Given the description of an element on the screen output the (x, y) to click on. 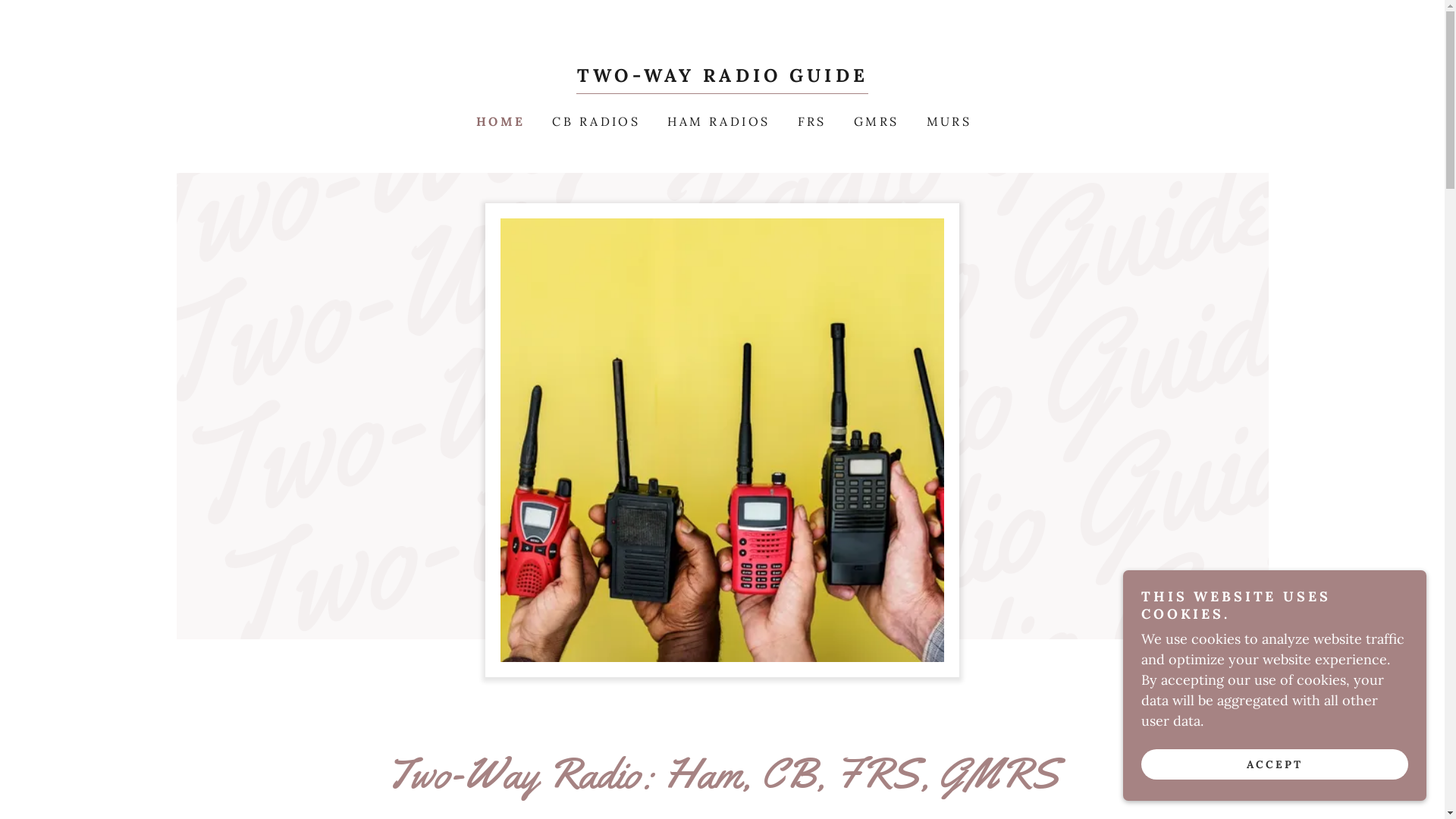
ACCEPT Element type: text (1274, 764)
TWO-WAY RADIO GUIDE Element type: text (722, 76)
FRS Element type: text (810, 120)
CB RADIOS Element type: text (594, 120)
HOME Element type: text (499, 121)
HAM RADIOS Element type: text (716, 120)
GMRS Element type: text (874, 120)
MURS Element type: text (947, 120)
